Given the description of an element on the screen output the (x, y) to click on. 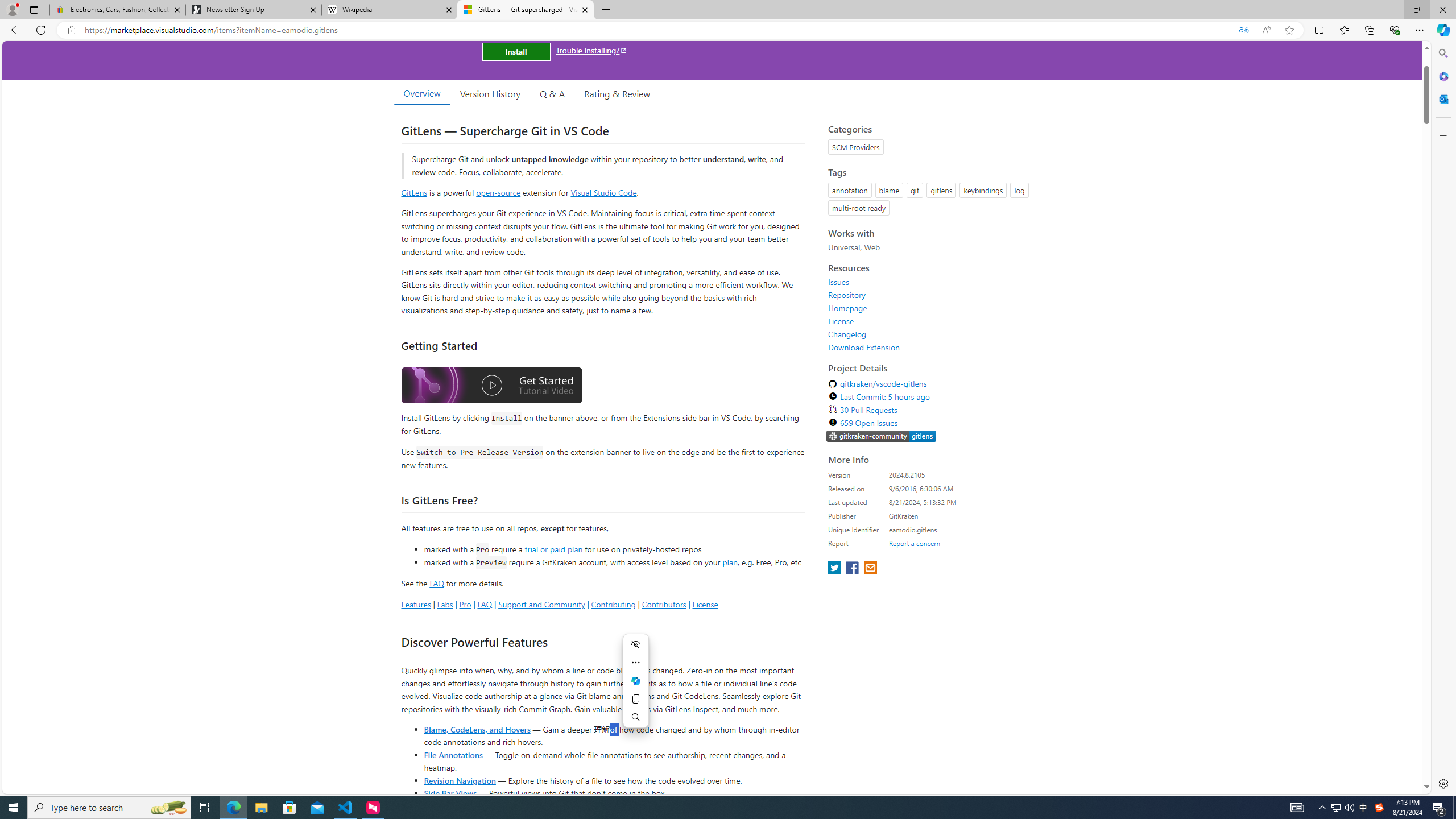
Issues (838, 281)
plan (730, 562)
License (840, 320)
Changelog (931, 333)
Support and Community (541, 603)
Side Bar Views (449, 792)
Contributing (613, 603)
Changelog (847, 333)
